Given the description of an element on the screen output the (x, y) to click on. 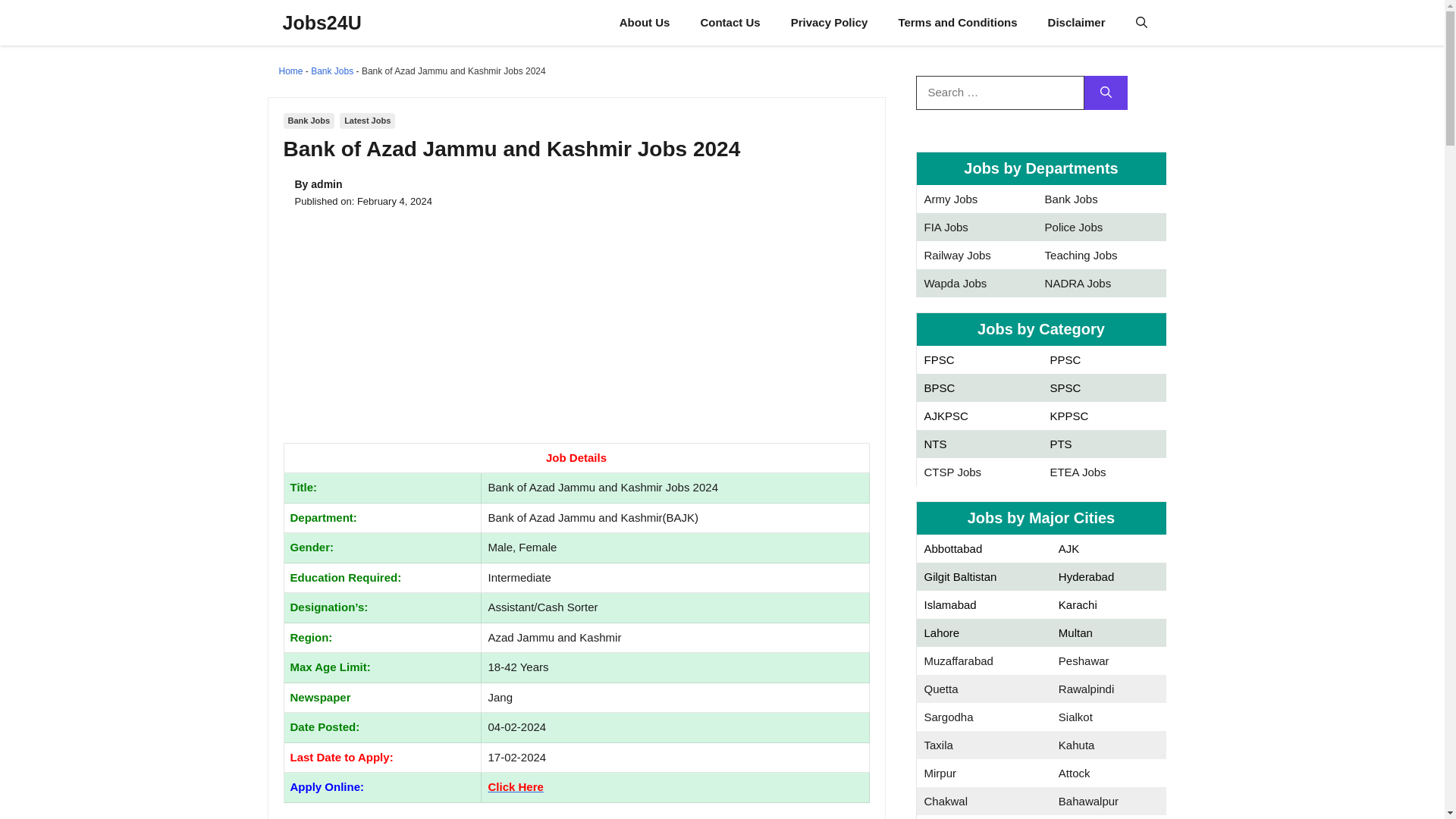
Search for: (999, 92)
About Us (644, 22)
admin (326, 184)
Privacy Policy (829, 22)
Latest Jobs (366, 120)
Contact Us (729, 22)
Bank Jobs (332, 71)
Bank Jobs (308, 120)
Click Here (515, 786)
Disclaimer (1076, 22)
Home (290, 71)
Terms and Conditions (957, 22)
Jobs24U (321, 22)
Advertisement (576, 330)
